Given the description of an element on the screen output the (x, y) to click on. 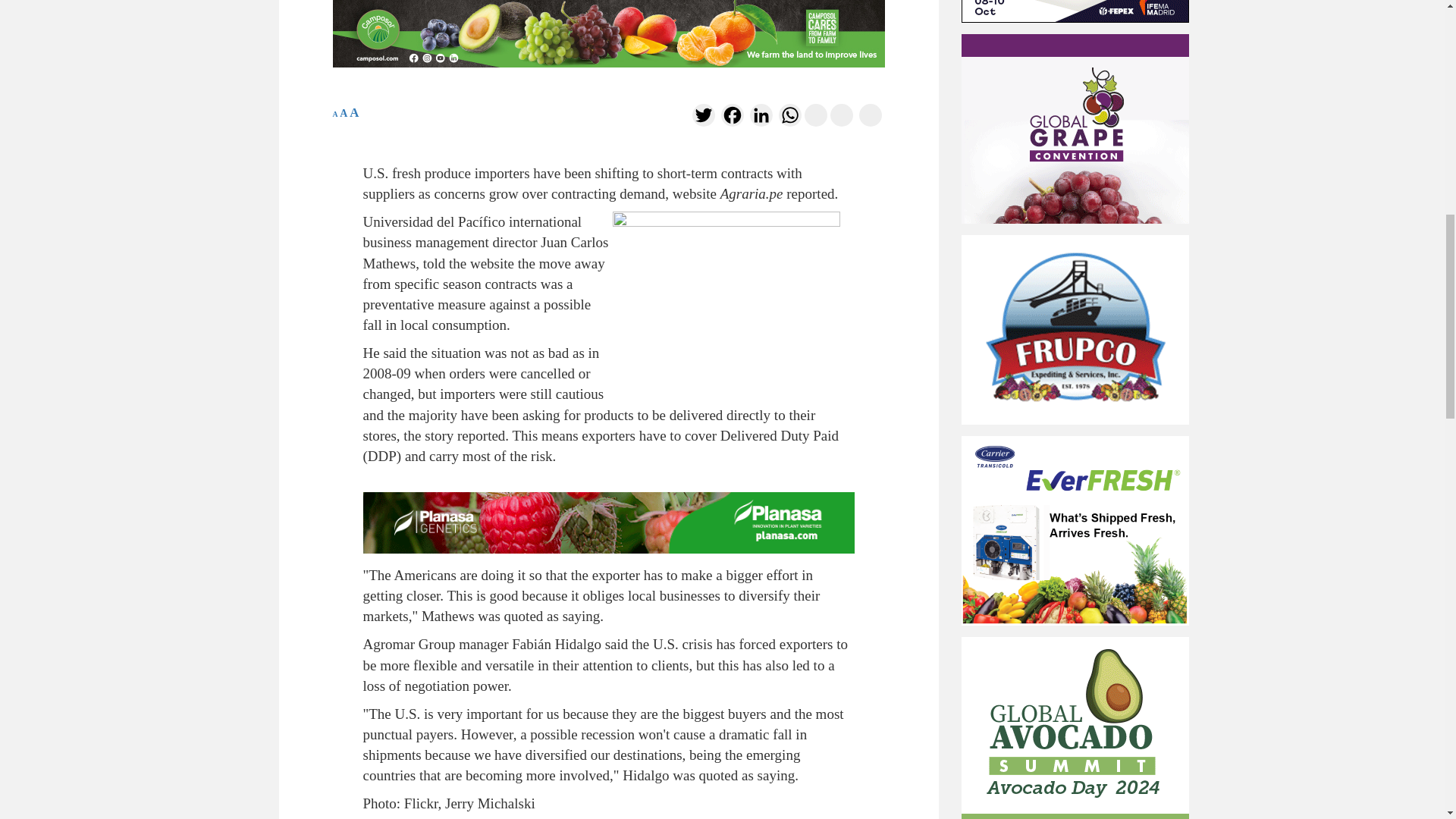
Reset font size (342, 112)
WhatsApp (788, 118)
Twitter (702, 118)
Increase font size (353, 112)
Facebook (731, 118)
Decrease font size (334, 113)
LinkedIn (759, 118)
